Given the description of an element on the screen output the (x, y) to click on. 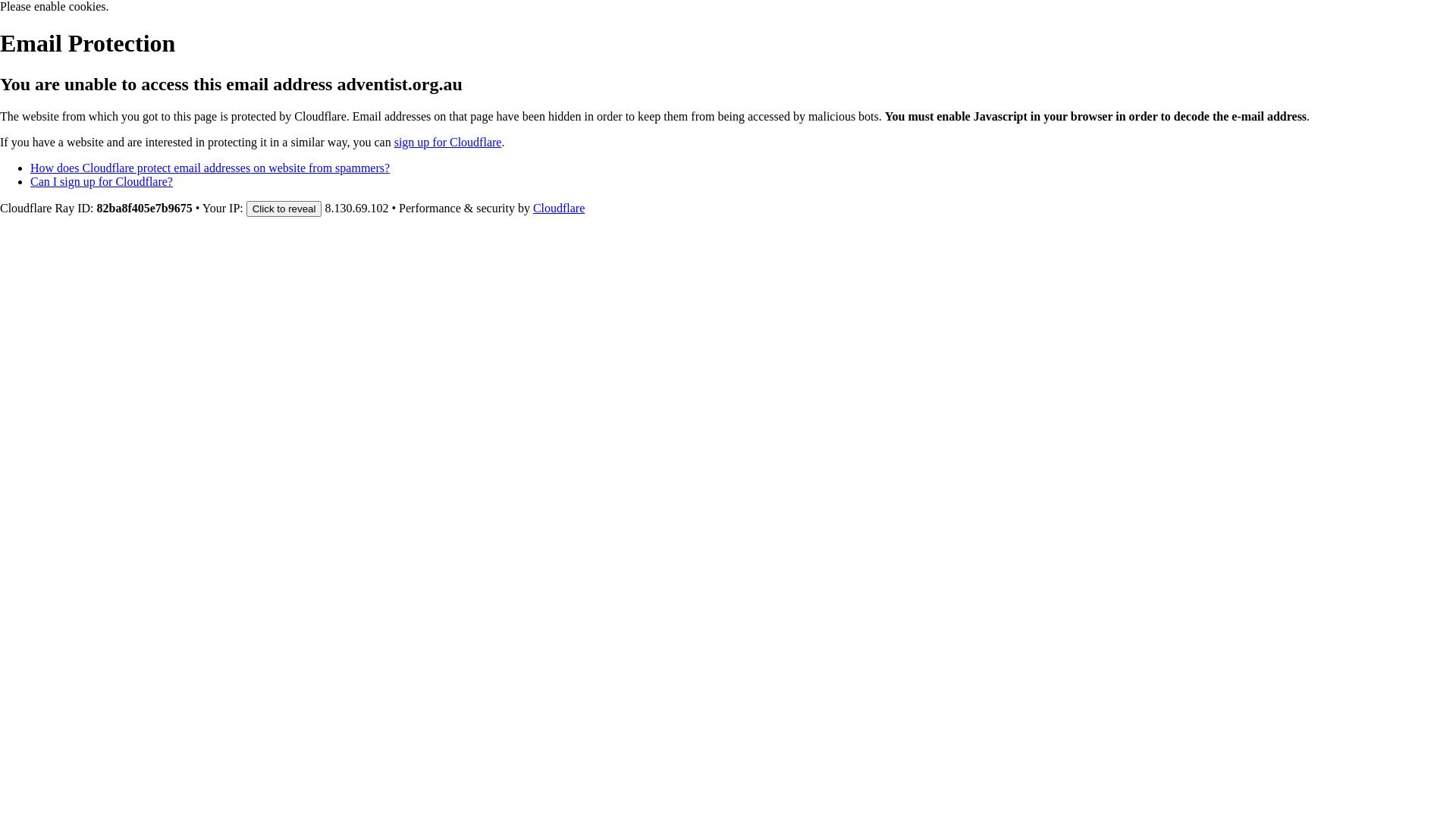
sign up for Cloudflare Element type: text (448, 141)
Click to reveal Element type: text (284, 208)
Can I sign up for Cloudflare? Element type: text (101, 181)
Cloudflare Element type: text (558, 207)
